Given the description of an element on the screen output the (x, y) to click on. 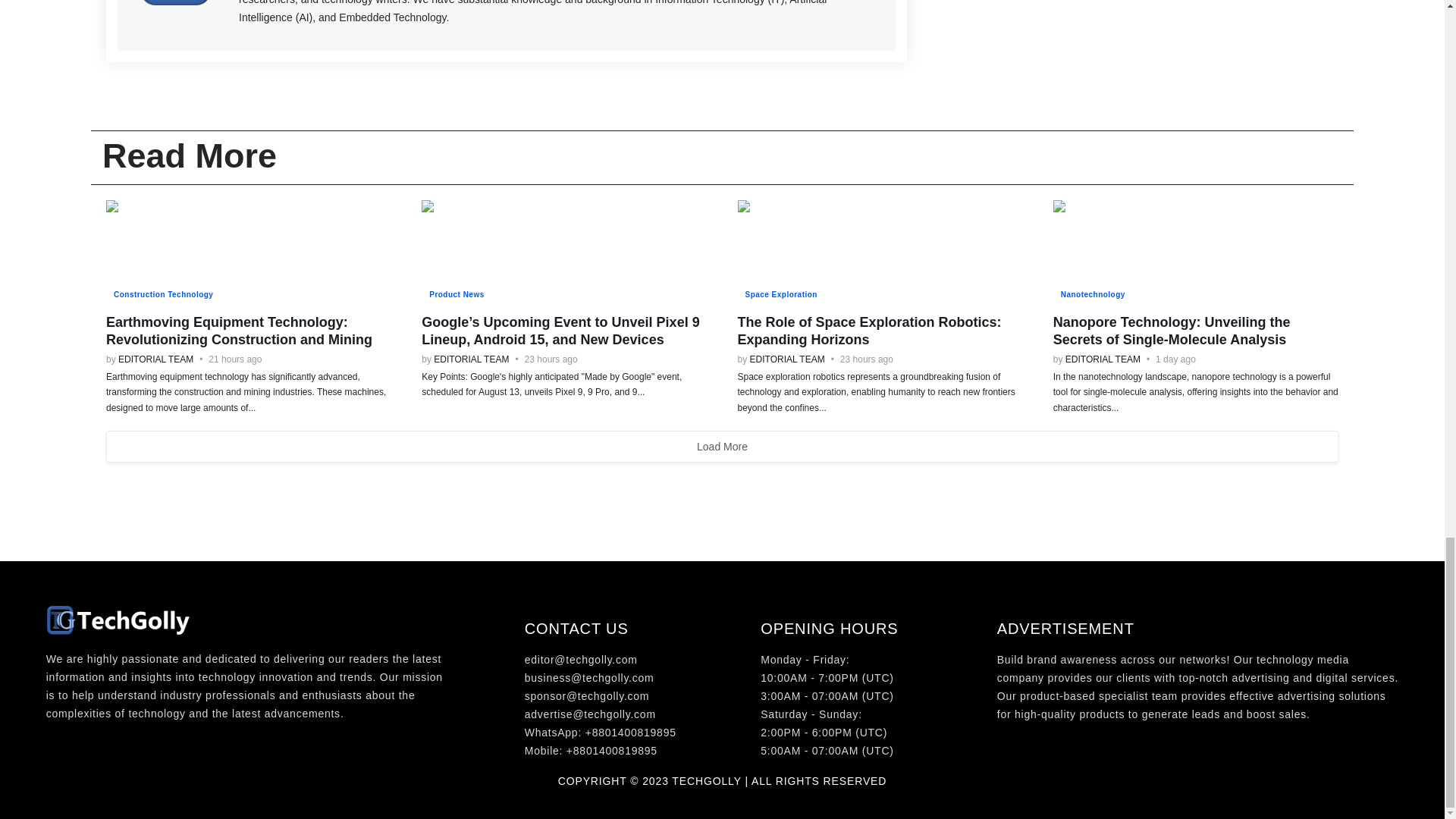
Load More (722, 446)
